Given the description of an element on the screen output the (x, y) to click on. 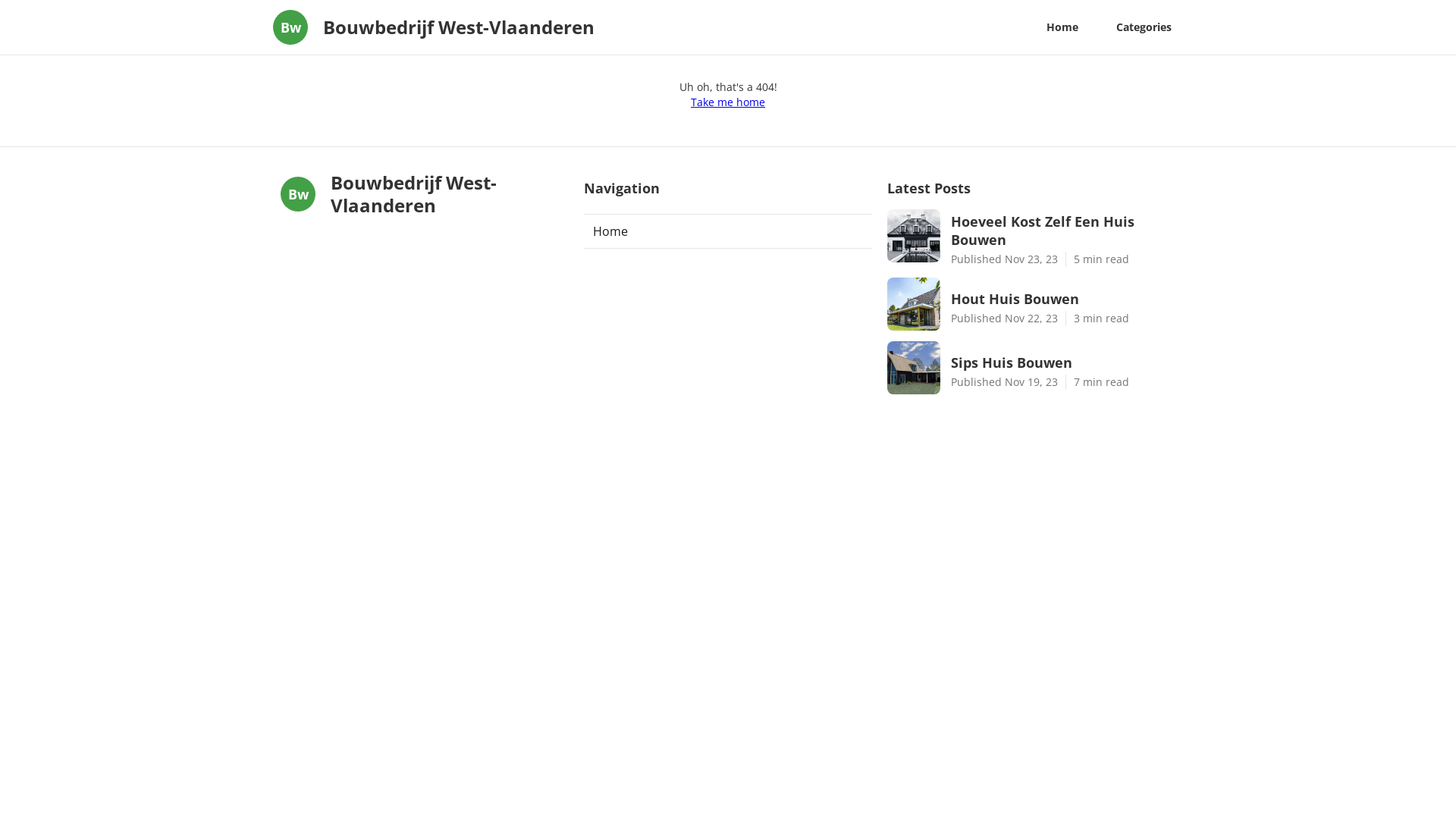
Hout Huis Bouwen Element type: text (1062, 298)
Sips Huis Bouwen Element type: text (1062, 362)
Hoeveel Kost Zelf Een Huis Bouwen Element type: text (1062, 230)
Home Element type: text (1062, 26)
Take me home Element type: text (727, 101)
Home Element type: text (727, 230)
Categories Element type: text (1143, 26)
